Given the description of an element on the screen output the (x, y) to click on. 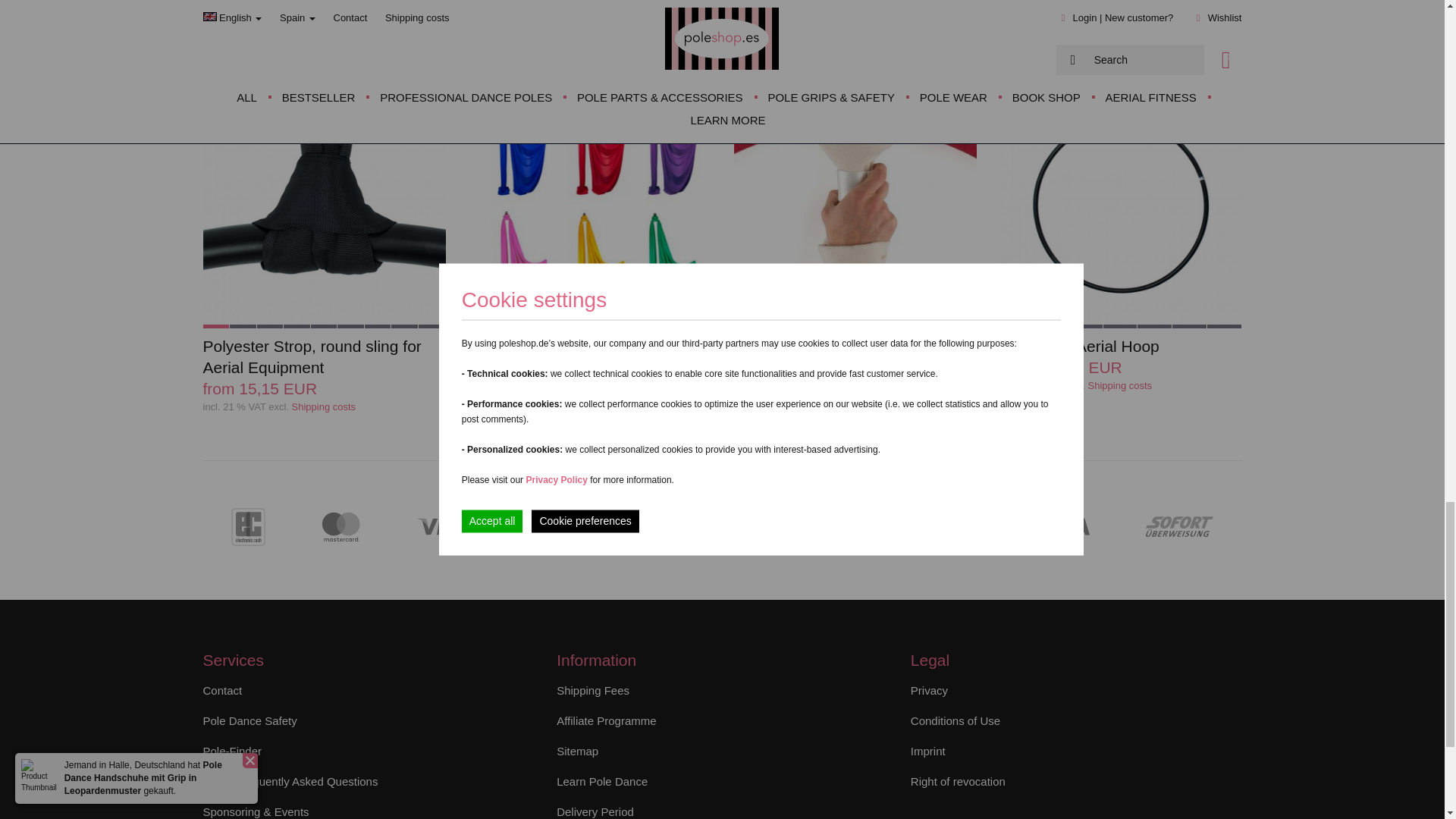
Information (1120, 385)
Information (589, 385)
Information (854, 406)
Information (324, 406)
